Given the description of an element on the screen output the (x, y) to click on. 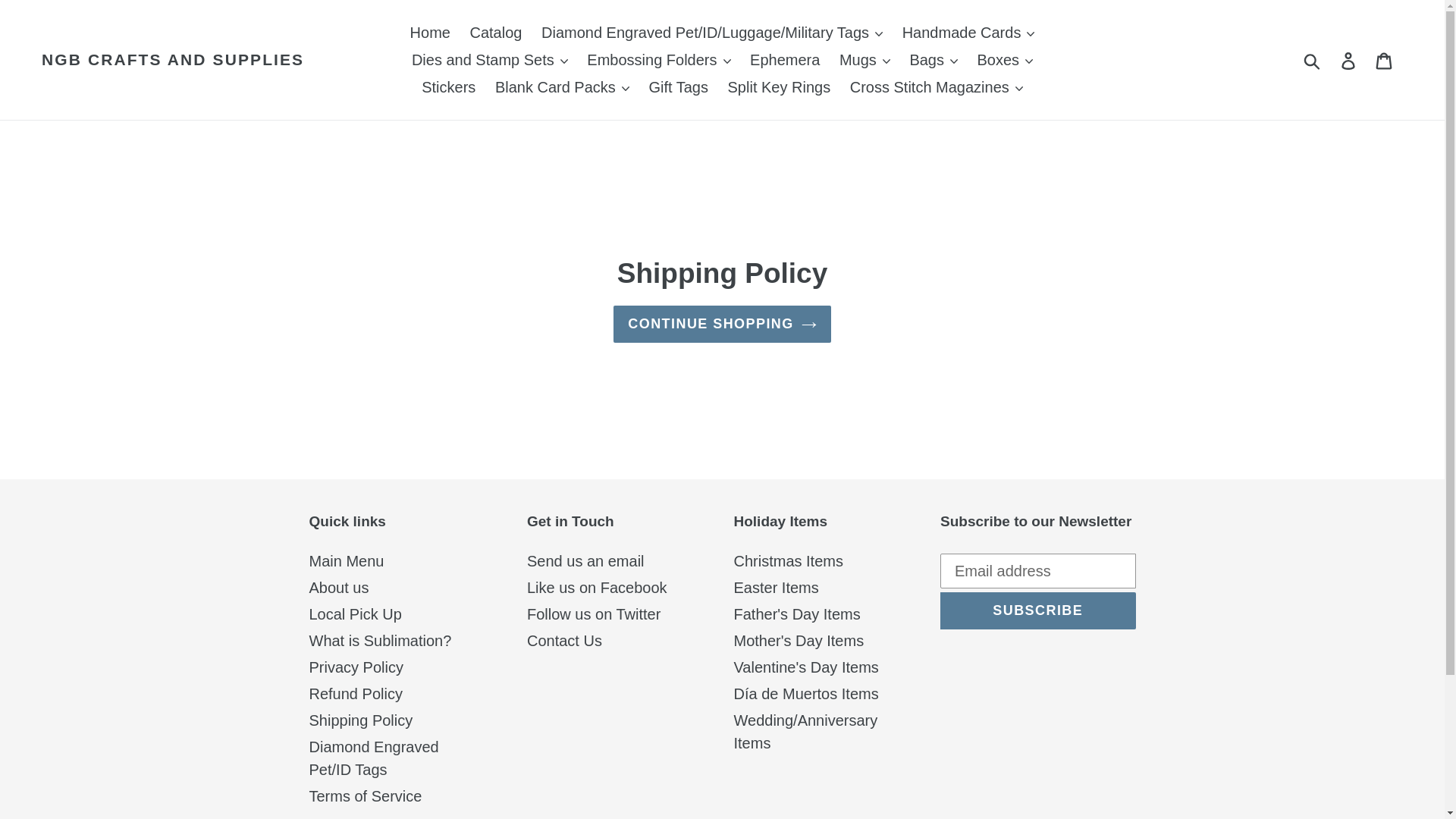
Catalog (496, 31)
Home (430, 31)
NGB CRAFTS AND SUPPLIES (173, 58)
